Given the description of an element on the screen output the (x, y) to click on. 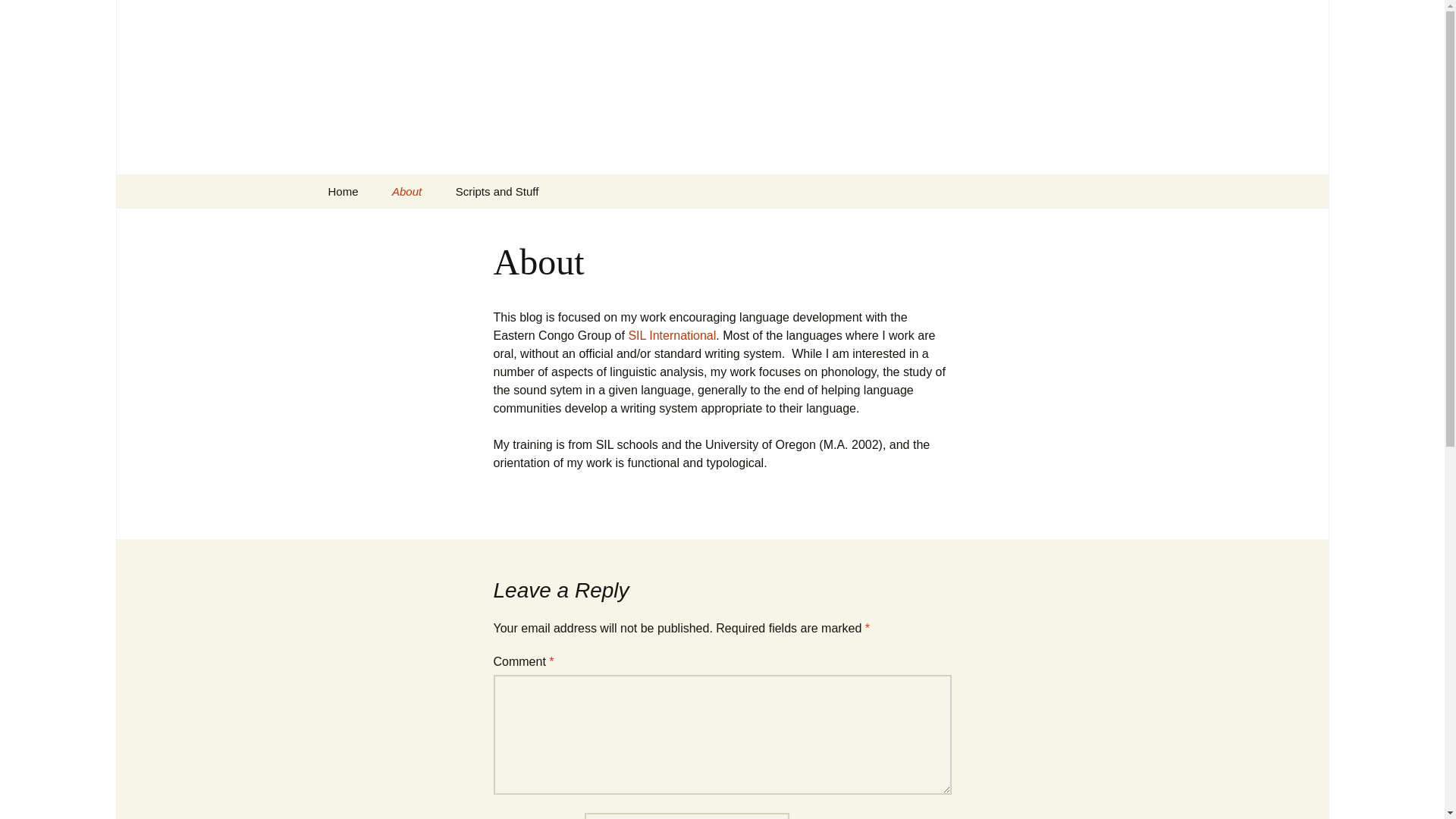
Home (342, 191)
SIL International (671, 335)
Scripts and Stuff (497, 191)
Search (18, 15)
Search (34, 15)
About (406, 191)
